Given the description of an element on the screen output the (x, y) to click on. 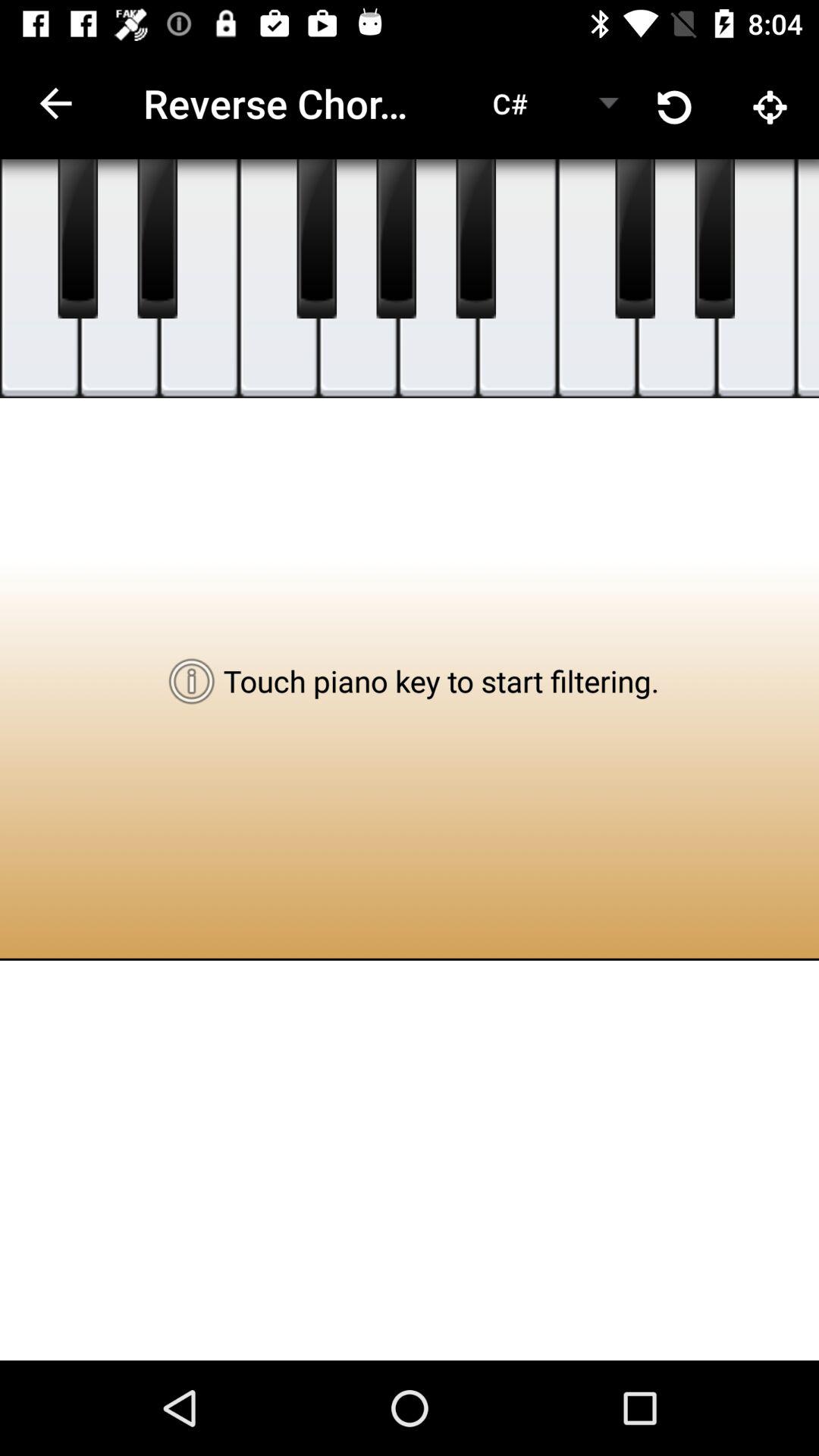
piano play button (77, 238)
